Given the description of an element on the screen output the (x, y) to click on. 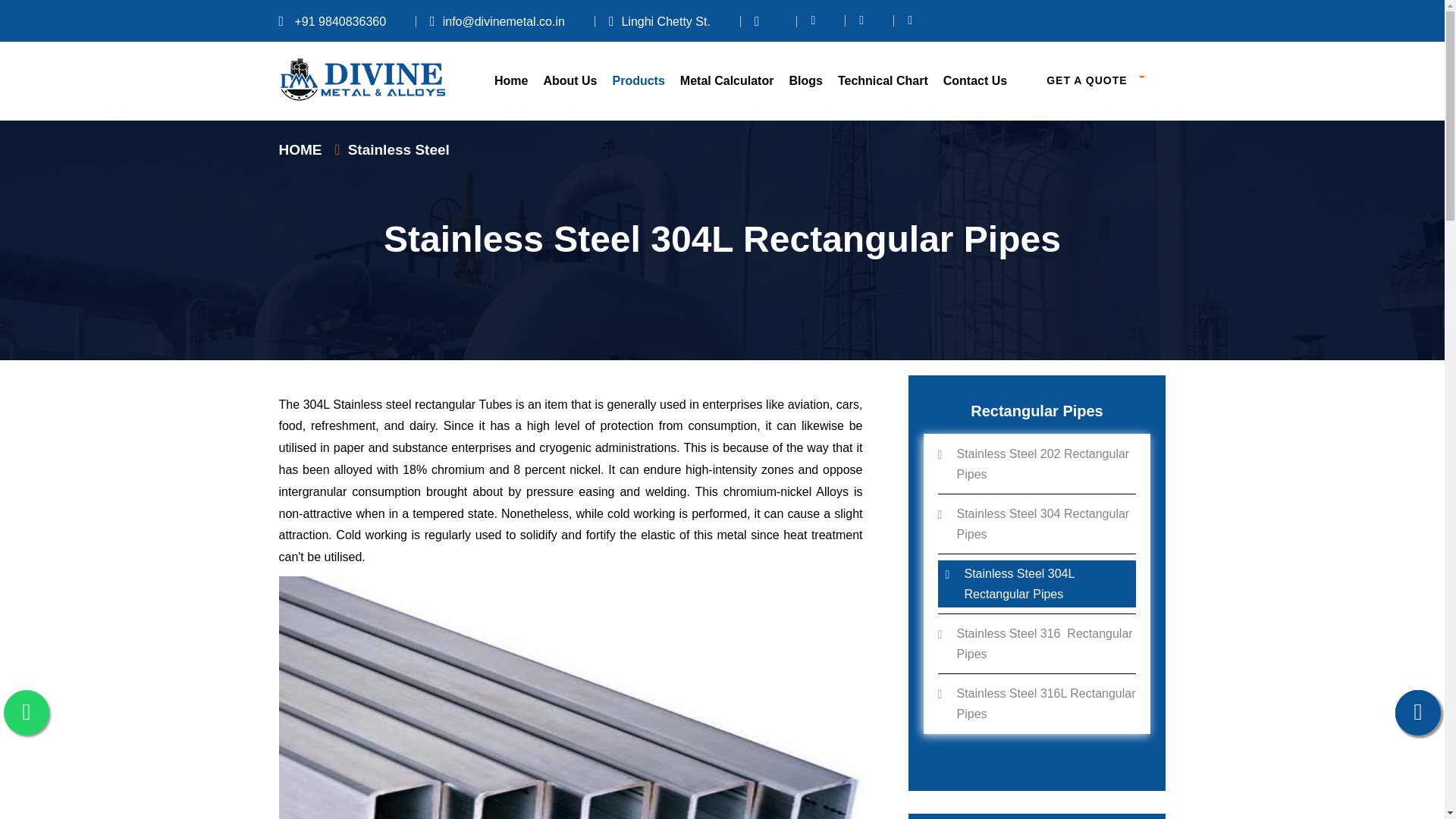
Linghi Chetty St. (659, 21)
Metal Calculator (726, 80)
GET A QUOTE (1096, 81)
Technical Chart (883, 80)
About Us (569, 80)
Products (638, 80)
Contact Us (975, 80)
